Given the description of an element on the screen output the (x, y) to click on. 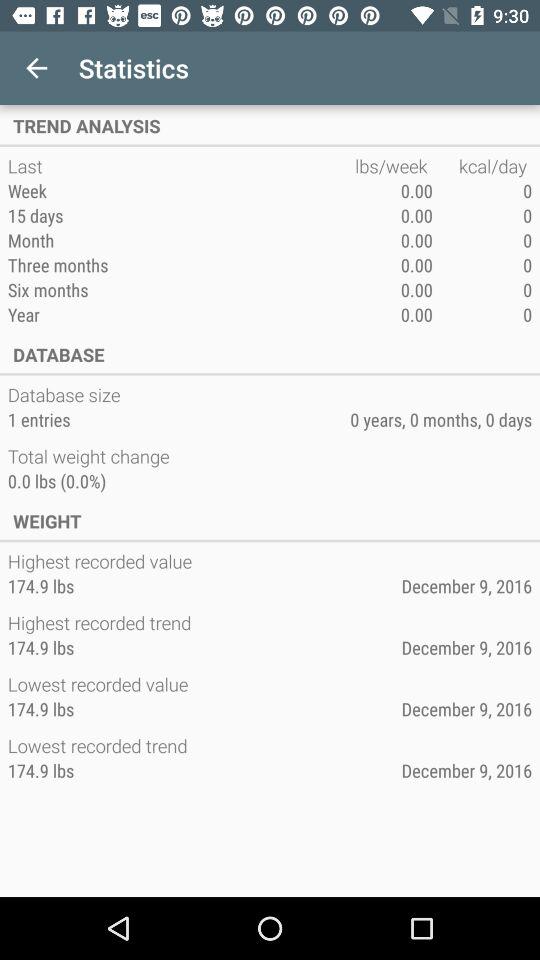
tap the item next to statistics icon (36, 68)
